Given the description of an element on the screen output the (x, y) to click on. 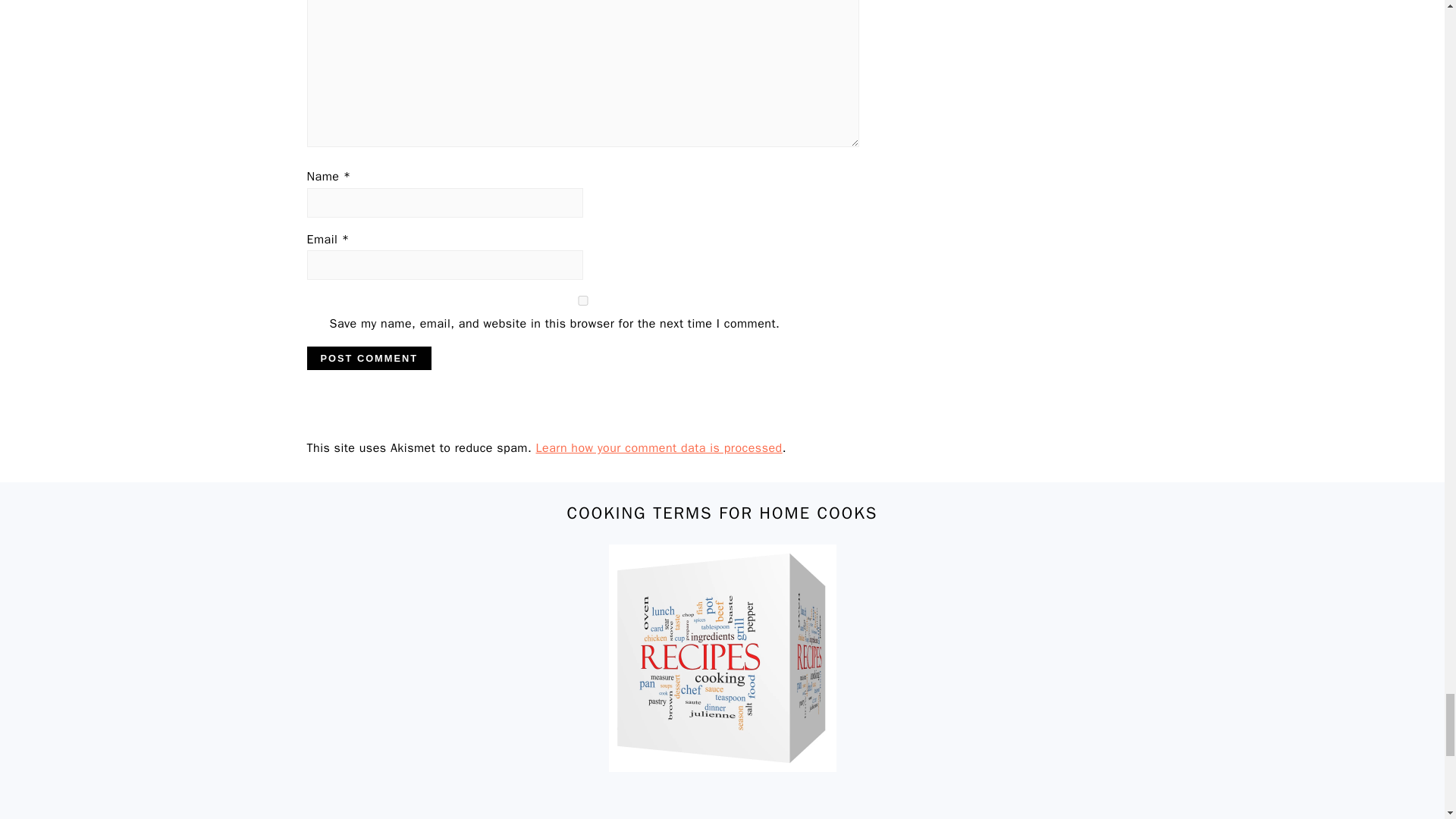
Post Comment (367, 358)
yes (582, 300)
Post Comment (367, 358)
Learn how your comment data is processed (659, 447)
